Given the description of an element on the screen output the (x, y) to click on. 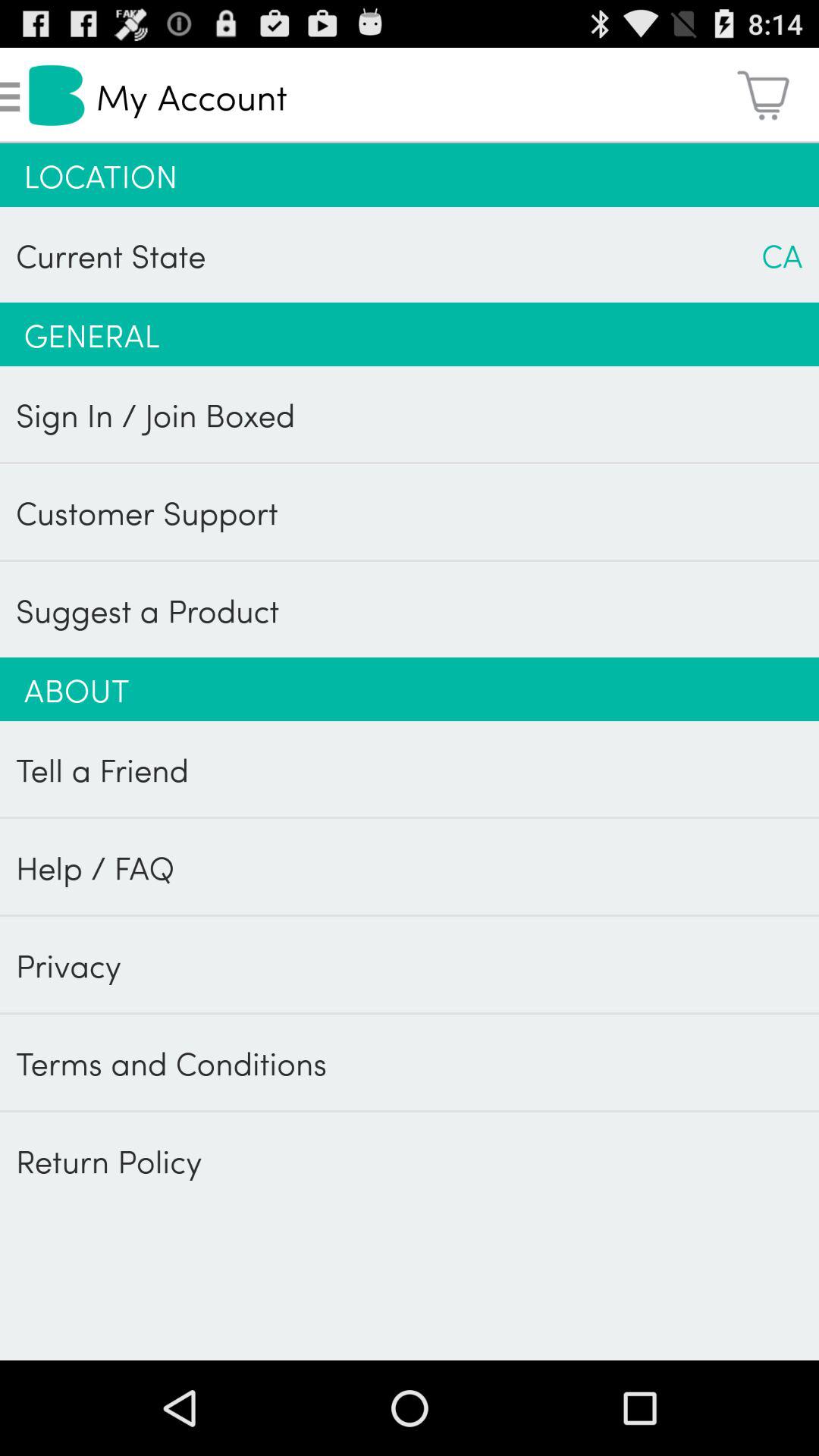
press icon above location (763, 95)
